Given the description of an element on the screen output the (x, y) to click on. 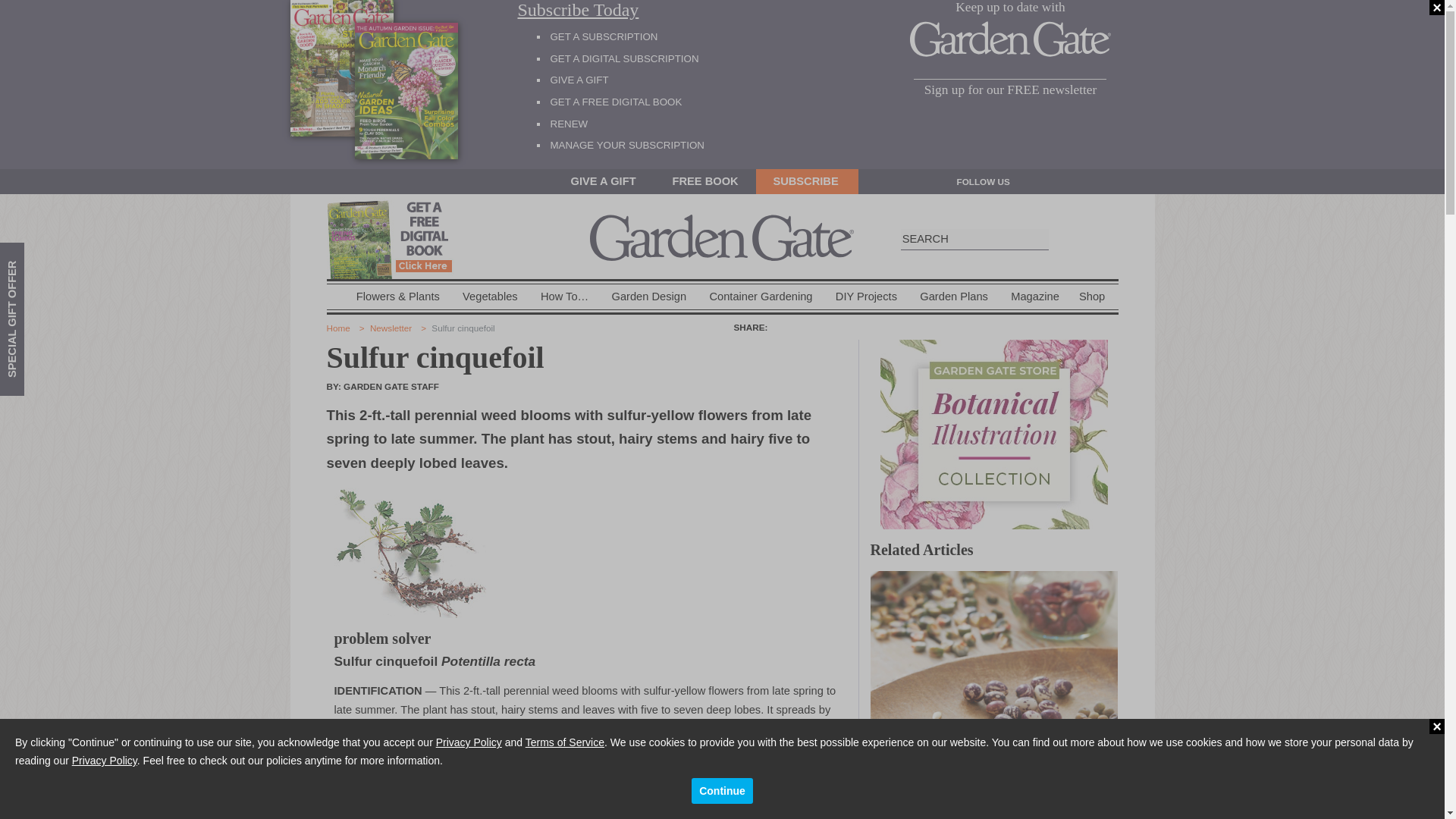
Sign up for our FREE newsletter (1009, 89)
RENEW (569, 123)
Subscribe Today (649, 10)
SUBSCRIBE  (807, 181)
GET A FREE DIGITAL BOOK (616, 101)
GIVE A GIFT (603, 181)
MANAGE YOUR SUBSCRIPTION (627, 144)
GIVE A GIFT (579, 79)
GET A DIGITAL SUBSCRIPTION (624, 58)
GG Zone 13 Green Cover Free Book (395, 238)
